Given the description of an element on the screen output the (x, y) to click on. 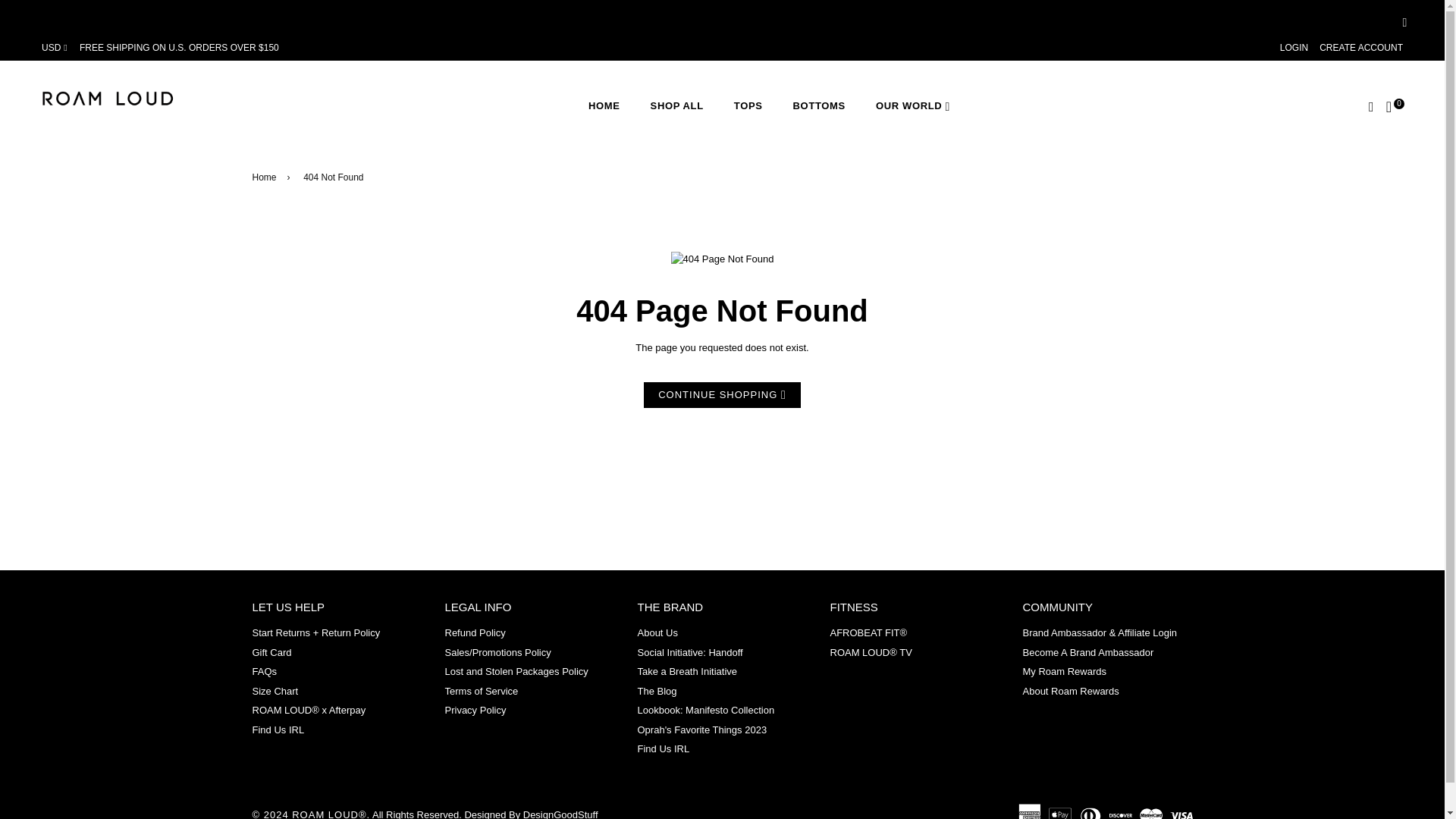
OUR WORLD (912, 105)
BOTTOMS (818, 105)
HOME (603, 105)
LOGIN (1293, 47)
FAQs (263, 671)
CREATE ACCOUNT (1361, 47)
SHOP ALL (676, 105)
Size Chart (274, 690)
Gift Card (271, 652)
CONTINUE SHOPPING (721, 395)
